Given the description of an element on the screen output the (x, y) to click on. 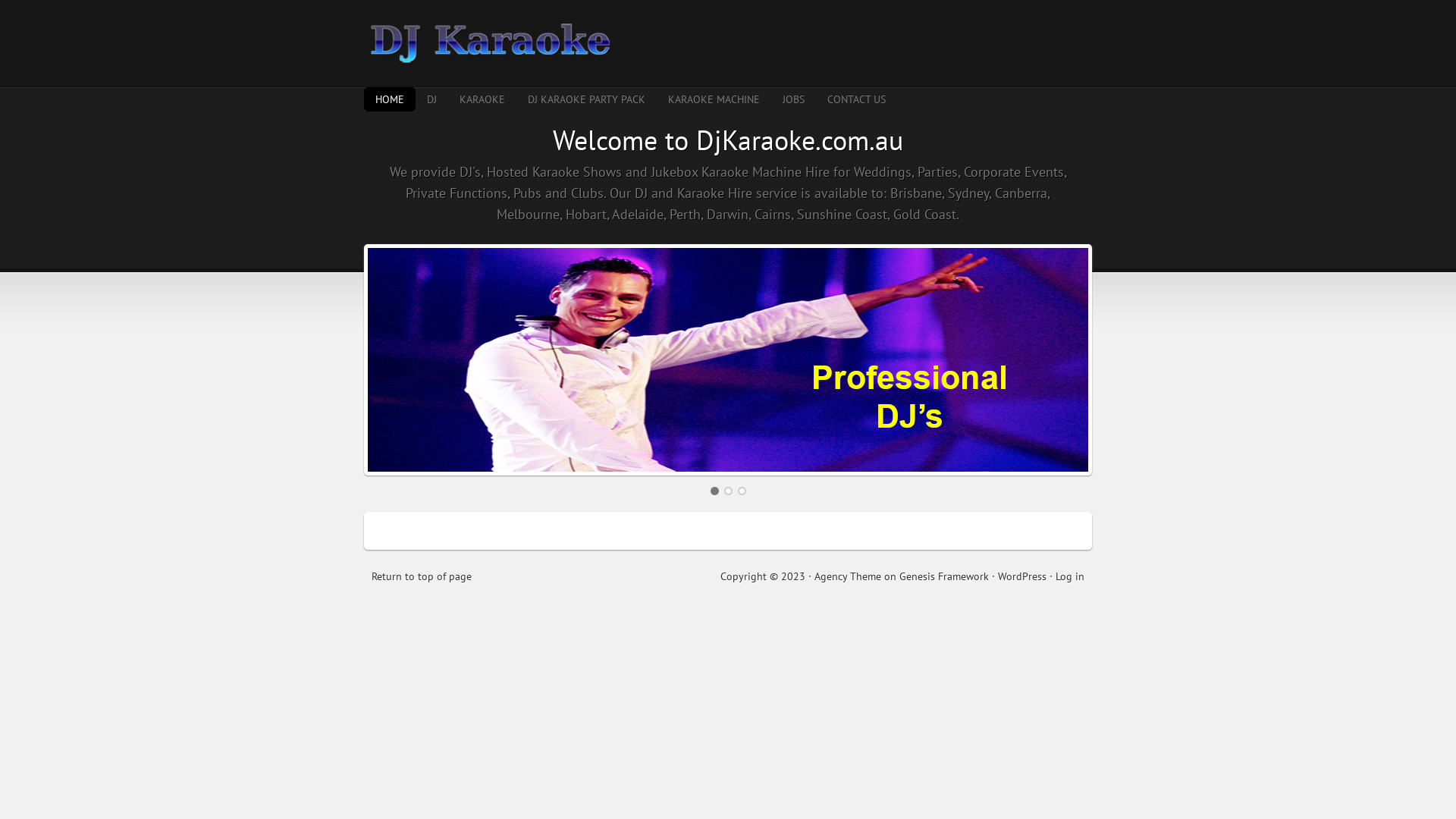
Log in Element type: text (1069, 576)
CONTACT US Element type: text (856, 99)
DJ KARAOKE Element type: text (728, 43)
HOME Element type: text (389, 99)
Genesis Framework Element type: text (943, 576)
2 Element type: text (728, 491)
1 Element type: text (714, 491)
Return to top of page Element type: text (421, 576)
3 Element type: text (741, 491)
DJ KARAOKE PARTY PACK Element type: text (586, 99)
Agency Theme Element type: text (847, 576)
KARAOKE MACHINE Element type: text (713, 99)
DJ Element type: text (431, 99)
WordPress Element type: text (1021, 576)
KARAOKE Element type: text (482, 99)
